Given the description of an element on the screen output the (x, y) to click on. 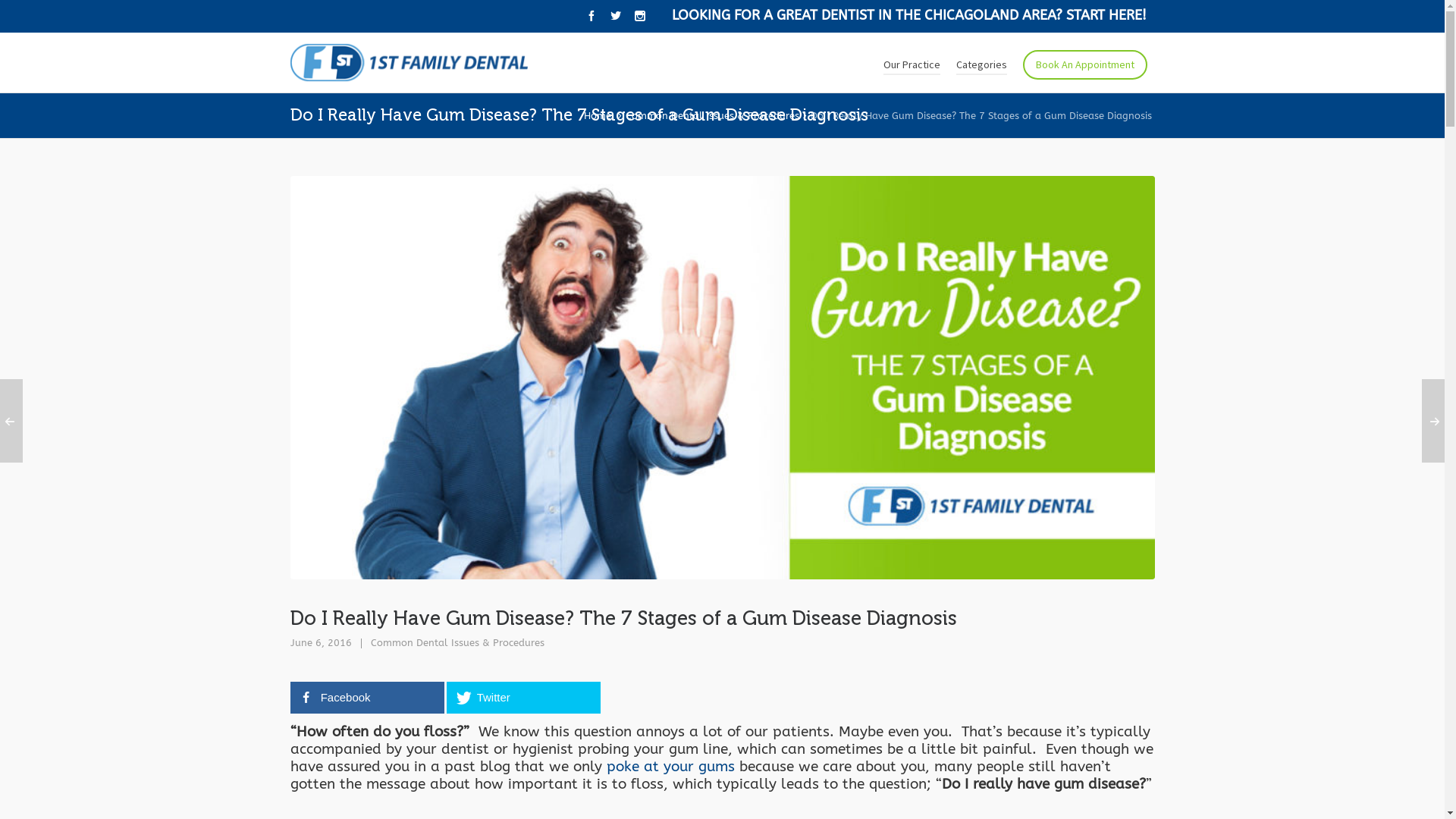
Home Element type: text (597, 115)
Common Dental Issues & Procedures Element type: text (711, 115)
Our Practice Element type: text (911, 62)
Common Dental Issues & Procedures Element type: text (456, 642)
Facebook Element type: text (366, 697)
Categories Element type: text (980, 62)
Book An Appointment Element type: text (1084, 62)
poke at your gums Element type: text (670, 766)
Twitter Element type: text (522, 697)
